Given the description of an element on the screen output the (x, y) to click on. 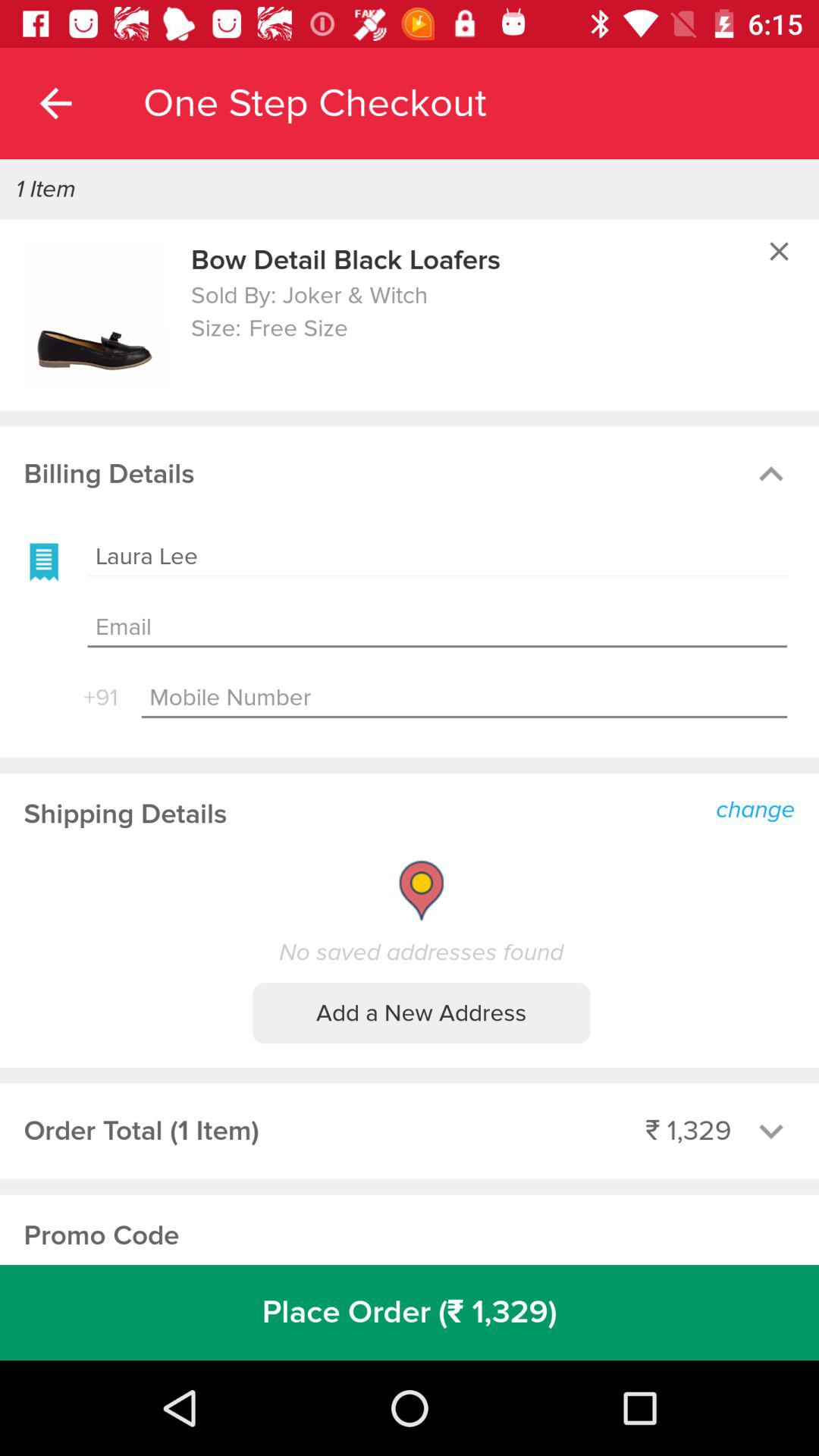
enter email (437, 627)
